Given the description of an element on the screen output the (x, y) to click on. 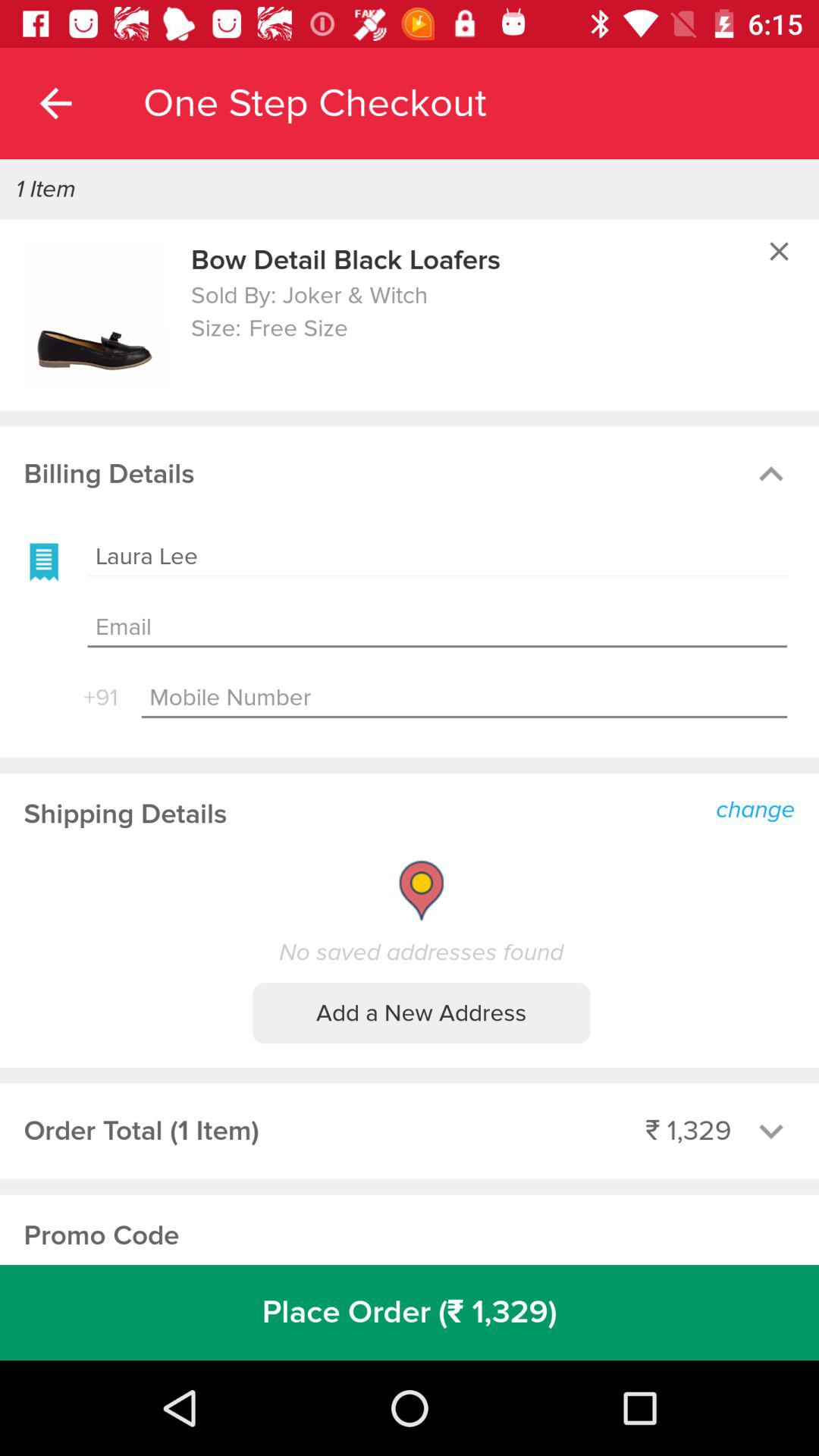
enter email (437, 627)
